Given the description of an element on the screen output the (x, y) to click on. 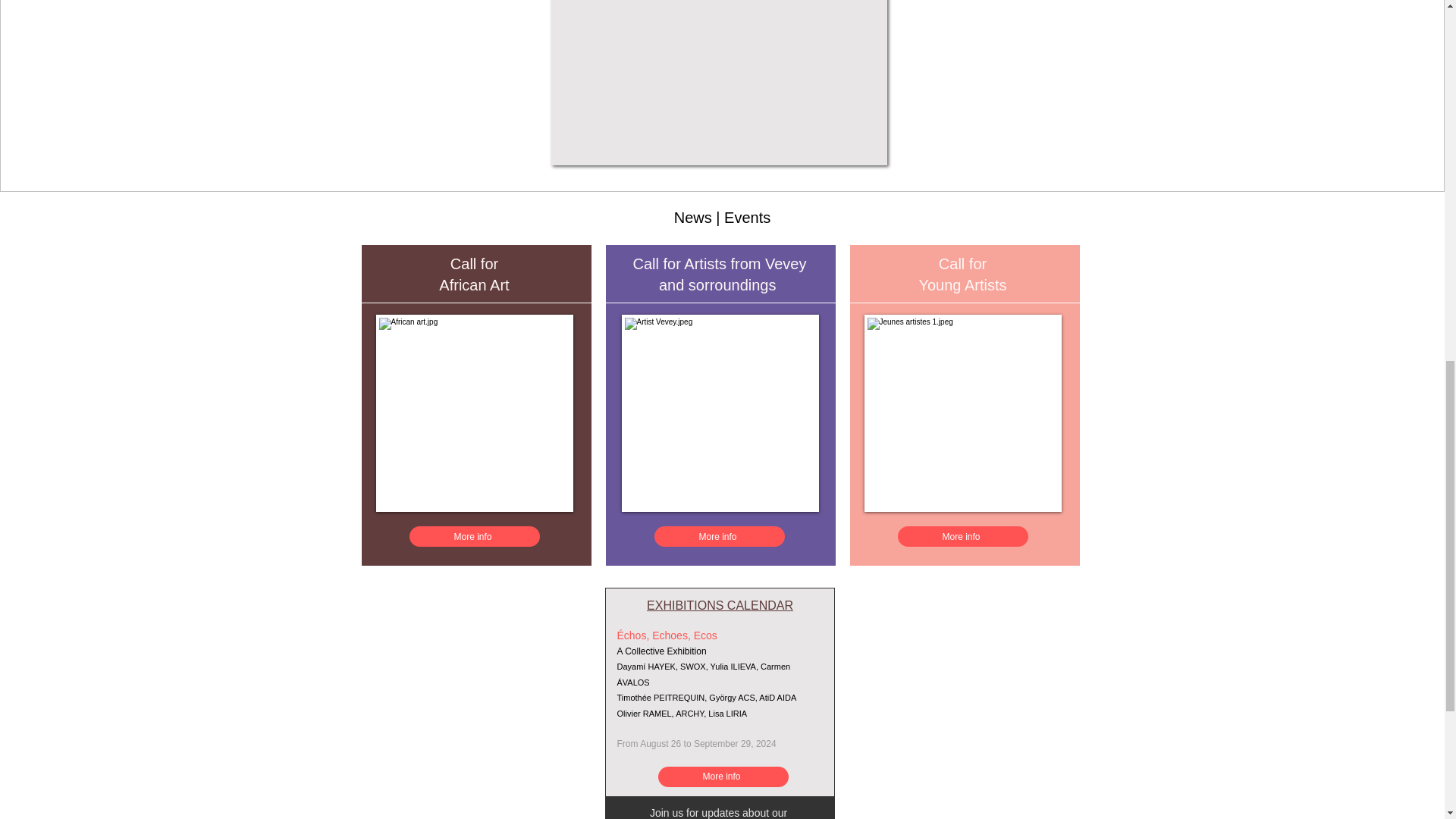
More info (474, 536)
More info (723, 776)
More info (718, 536)
More info (962, 536)
EXHIBITIONS CALENDAR (719, 604)
